Given the description of an element on the screen output the (x, y) to click on. 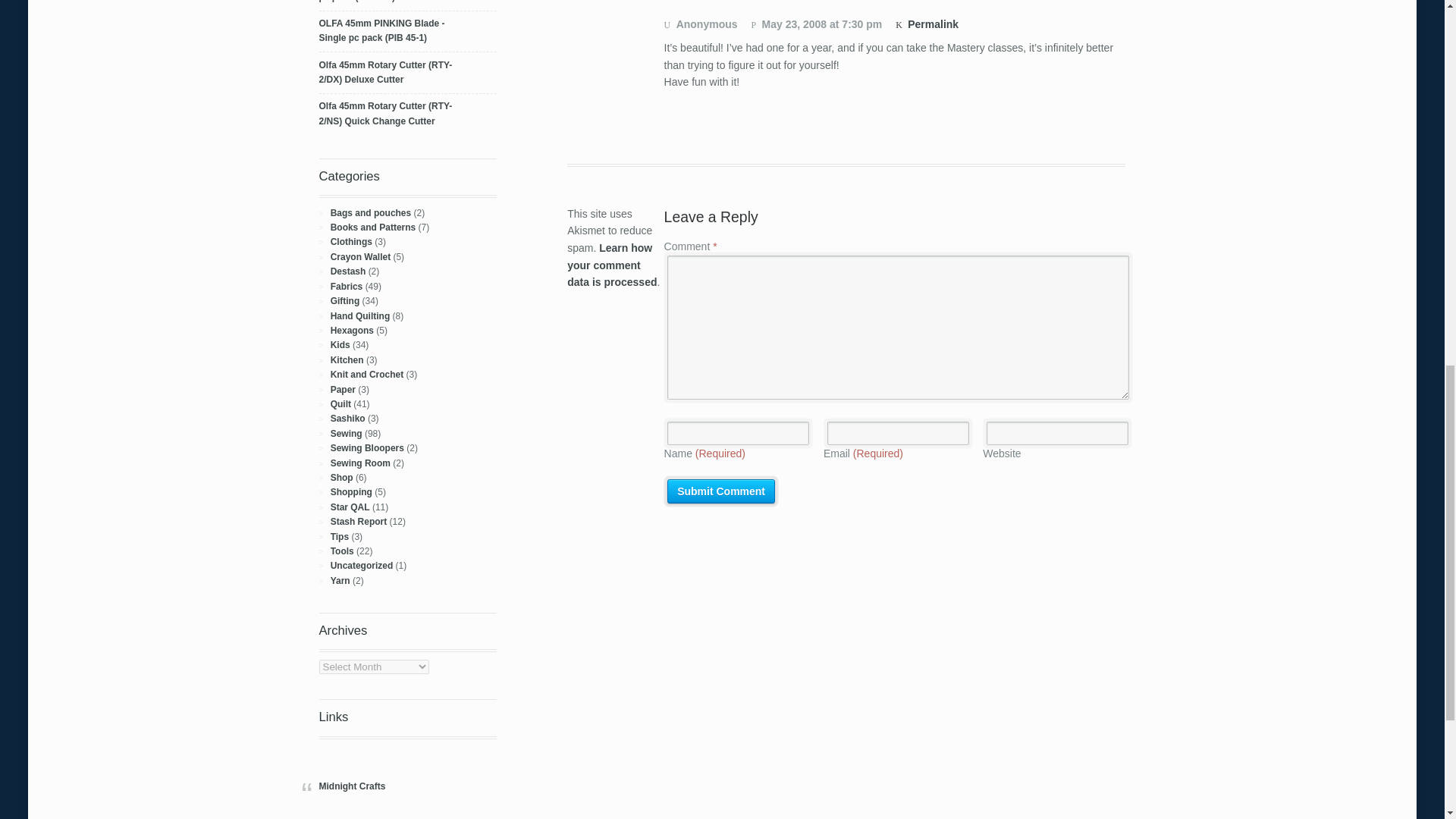
Direct link to this comment (926, 24)
Learn how your comment data is processed (611, 264)
Submit Comment (720, 490)
Submit Comment (720, 490)
Permalink (926, 24)
